Given the description of an element on the screen output the (x, y) to click on. 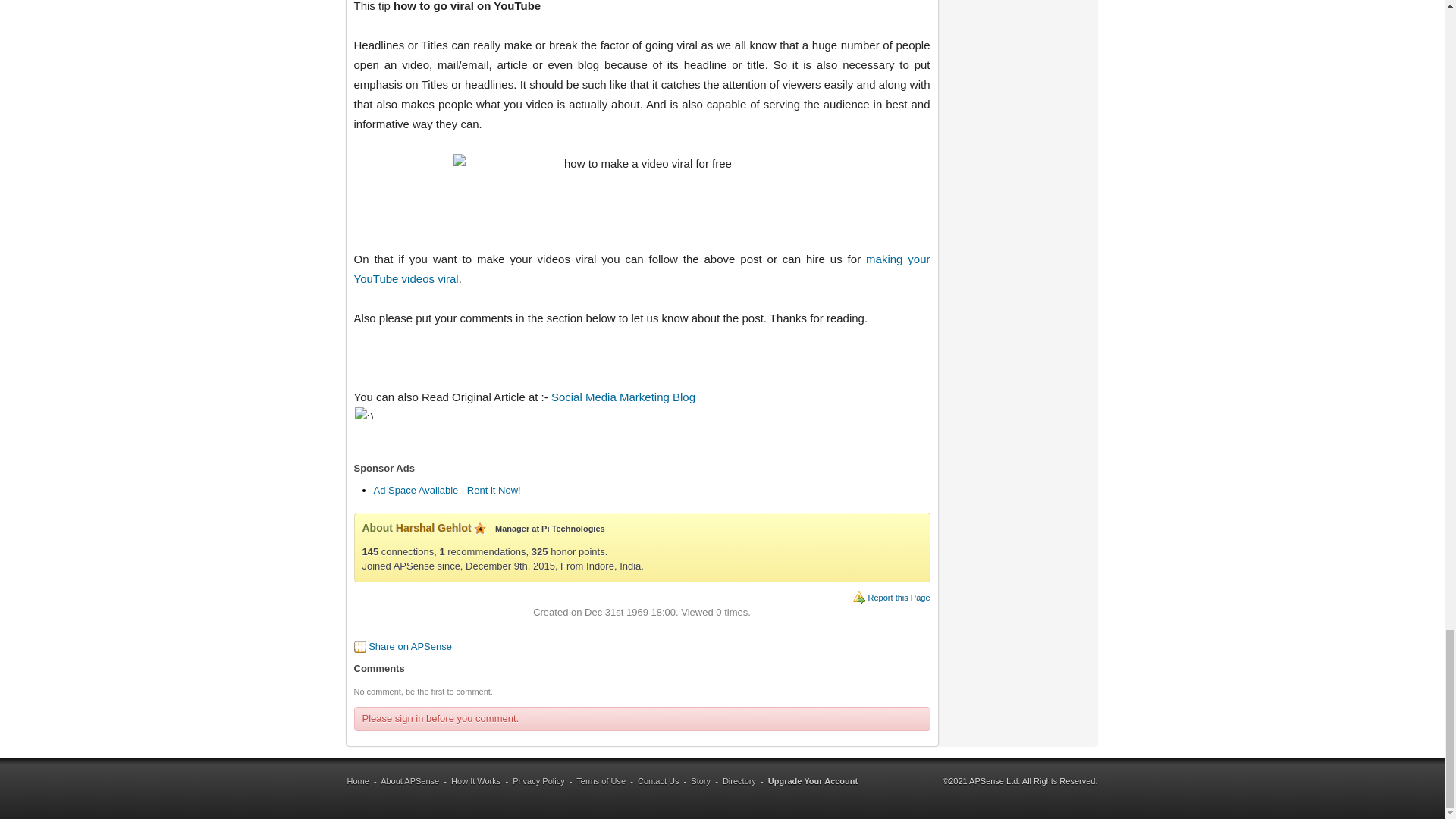
Advanced (480, 528)
Share on APSense (409, 645)
Social Media Marketing Blog (623, 396)
making your YouTube videos viral (641, 268)
Harshal Gehlot (433, 527)
Report this Page (898, 596)
Ad Space Available - Rent it Now! (445, 490)
Share on APSense (409, 645)
